Given the description of an element on the screen output the (x, y) to click on. 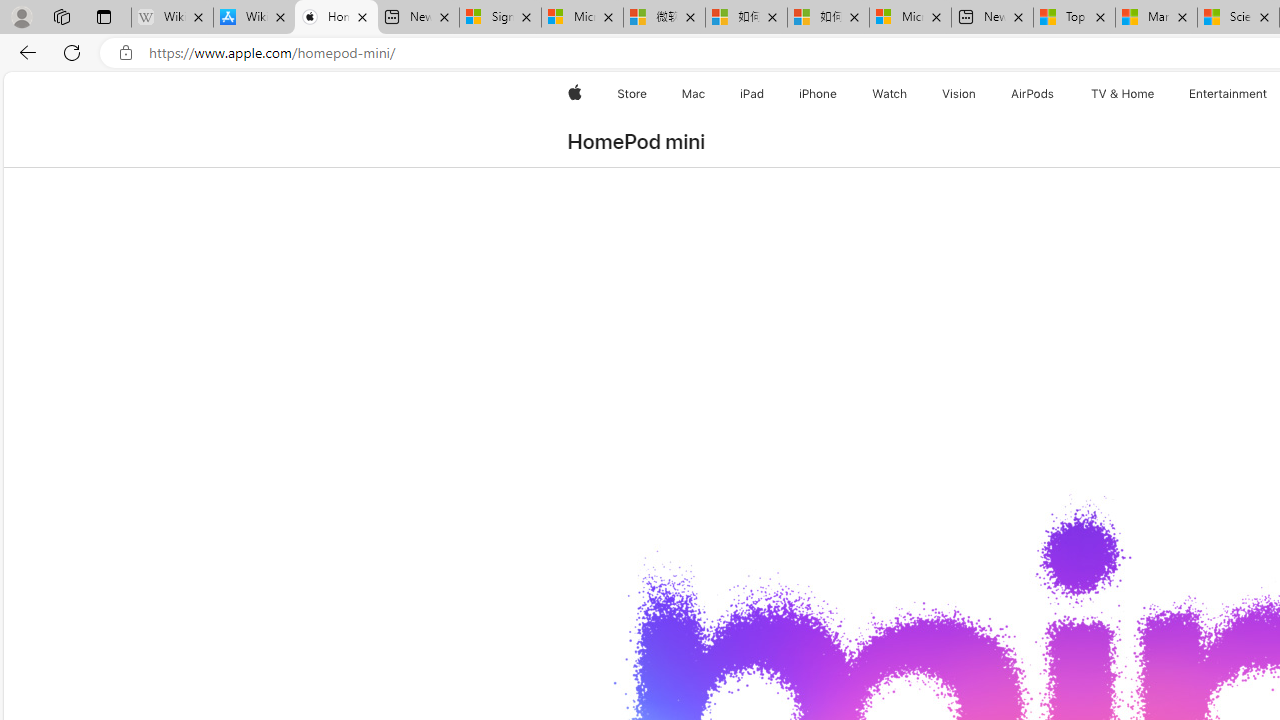
Store (631, 93)
iPhone menu (840, 93)
TV and Home menu (1157, 93)
HomePod mini (636, 142)
iPhone (818, 93)
TV & Home (1122, 93)
Vision menu (980, 93)
